Given the description of an element on the screen output the (x, y) to click on. 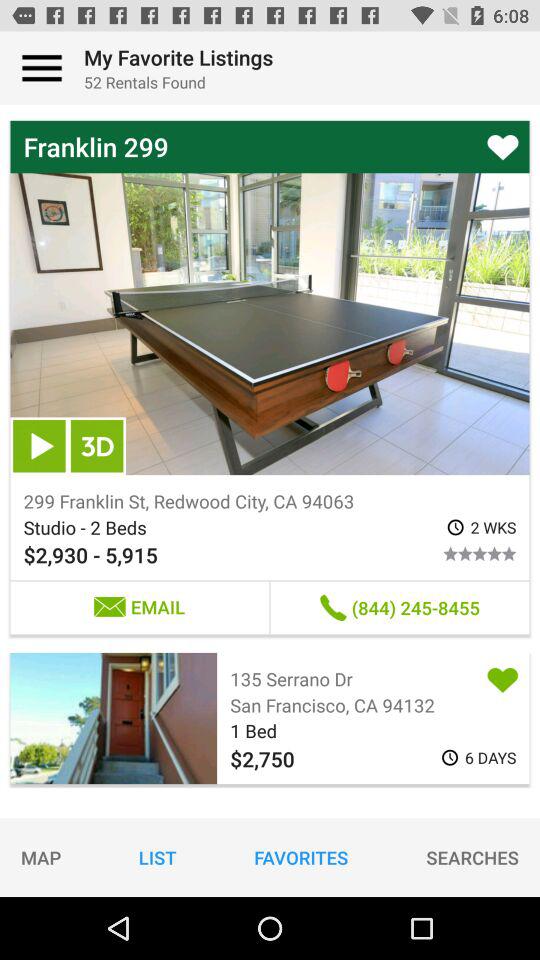
click the searches (472, 857)
